Given the description of an element on the screen output the (x, y) to click on. 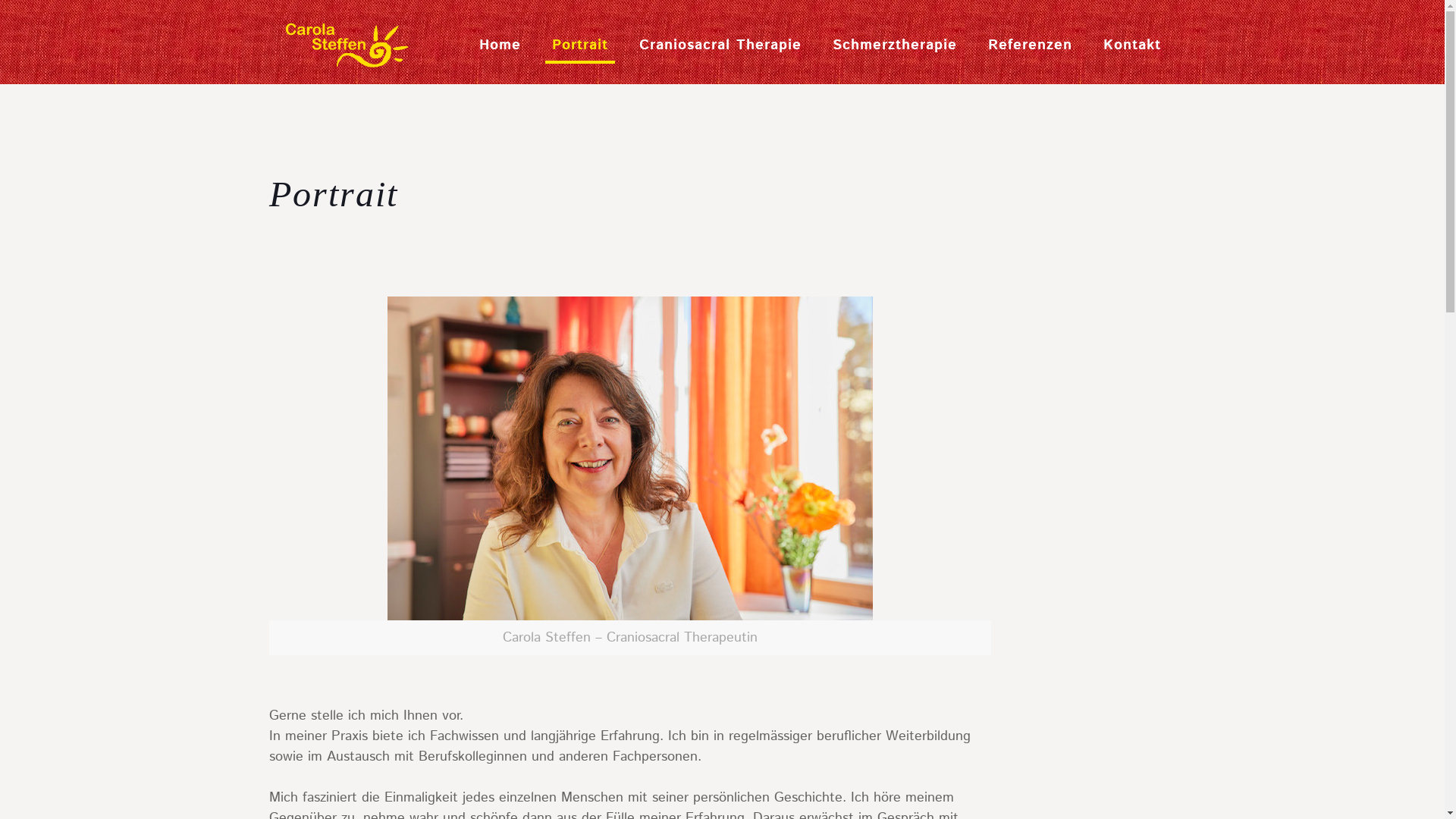
Schmerztherapie Element type: text (894, 45)
Portrait Element type: text (580, 45)
Referenzen Element type: text (1029, 45)
Carola Steffen, Luzern Element type: hover (345, 45)
Craniosacral Therapie Element type: text (719, 45)
Kontakt Element type: text (1131, 45)
Home Element type: text (500, 45)
